Given the description of an element on the screen output the (x, y) to click on. 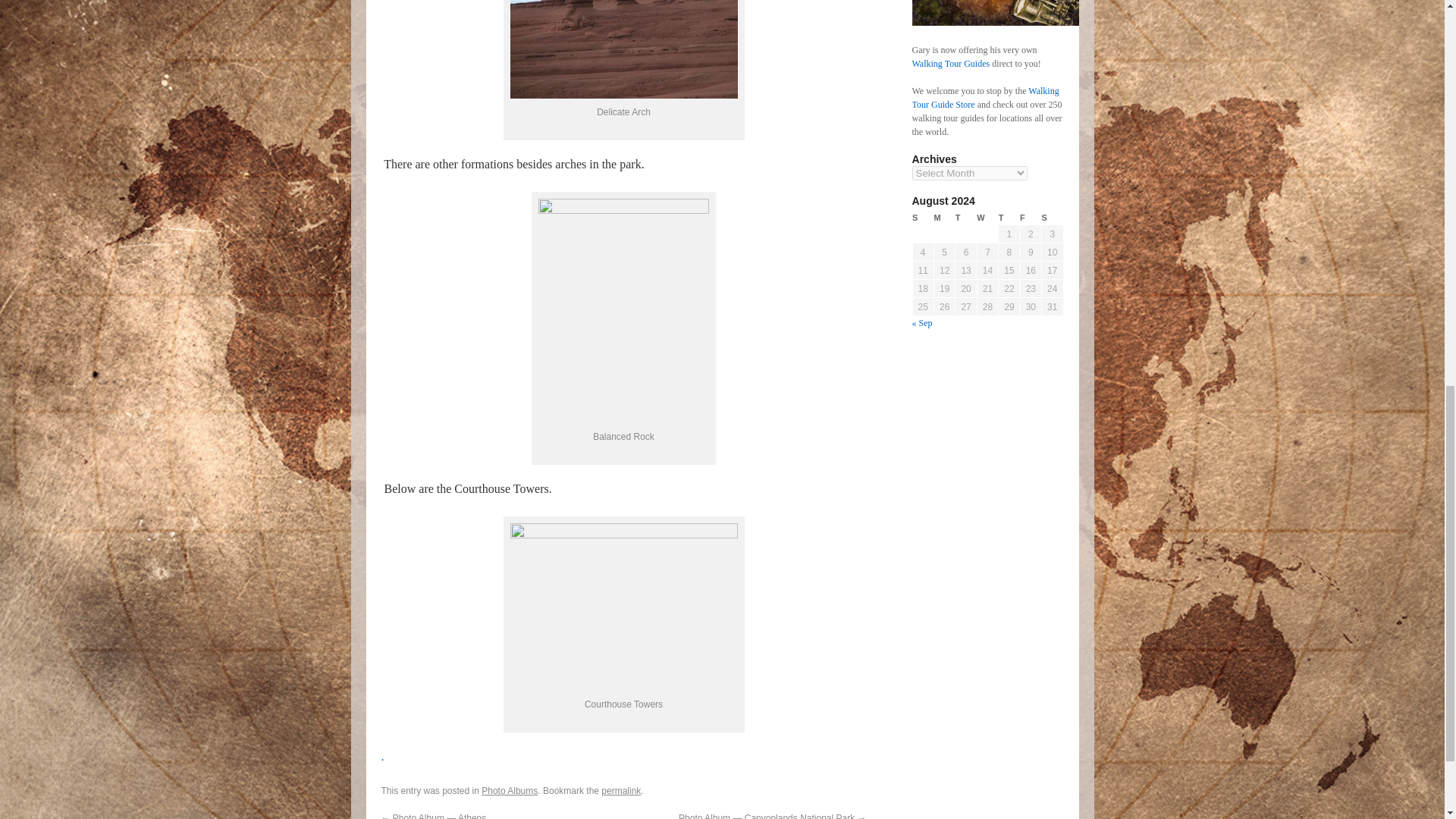
Delicate Arch from Upper View (622, 49)
Friday (1030, 217)
Tuesday (965, 217)
Wednesday (986, 217)
Courthouse Towers, Arches NP (622, 608)
Photo Albums (509, 790)
Sunday (922, 217)
Monday (944, 217)
permalink (620, 790)
Thursday (1009, 217)
